Given the description of an element on the screen output the (x, y) to click on. 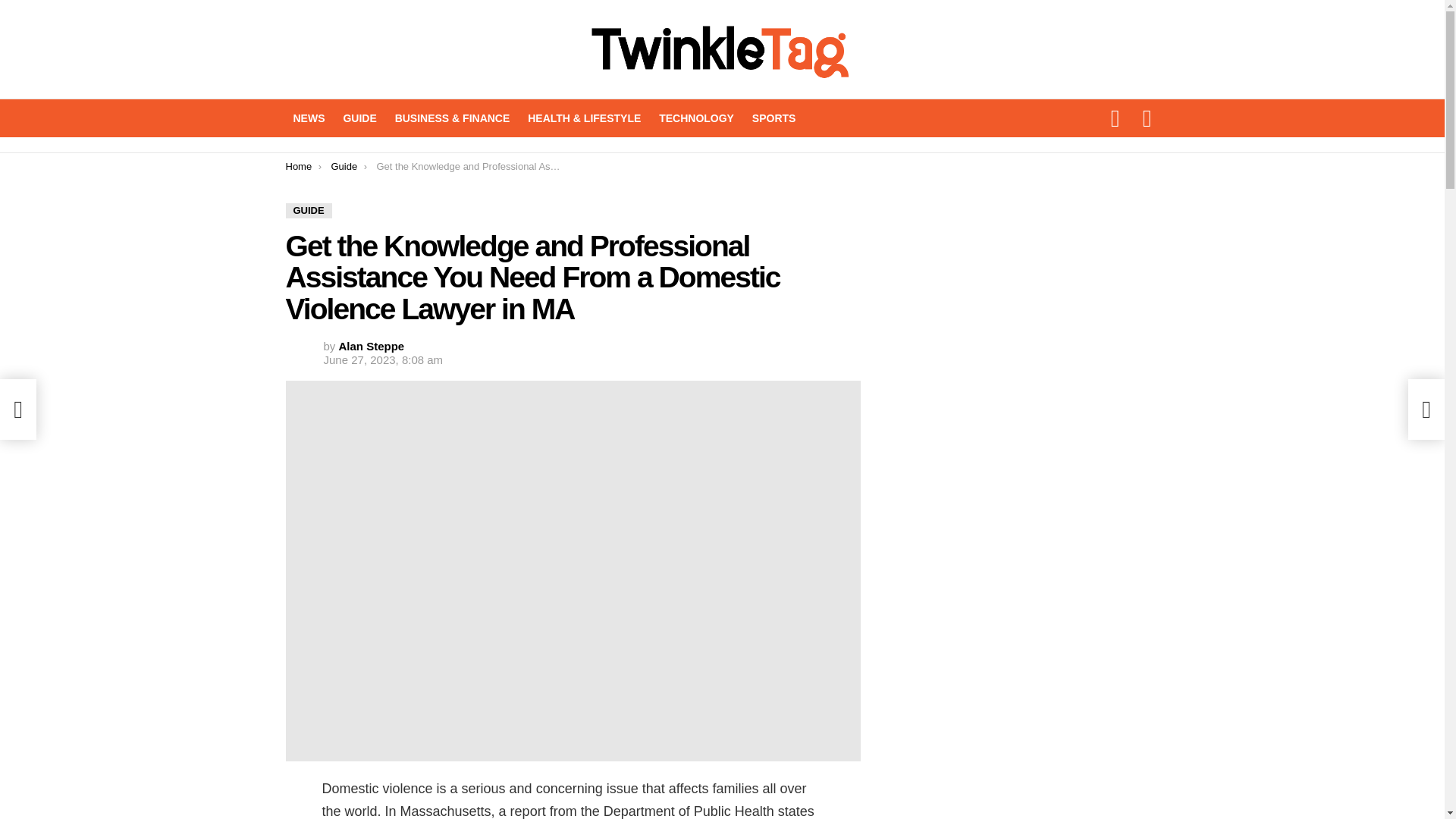
TECHNOLOGY (695, 118)
GUIDE (308, 210)
NEWS (308, 118)
SPORTS (773, 118)
Posts by Alan Steppe (371, 345)
Home (298, 165)
Alan Steppe (371, 345)
GUIDE (359, 118)
Guide (343, 165)
